Given the description of an element on the screen output the (x, y) to click on. 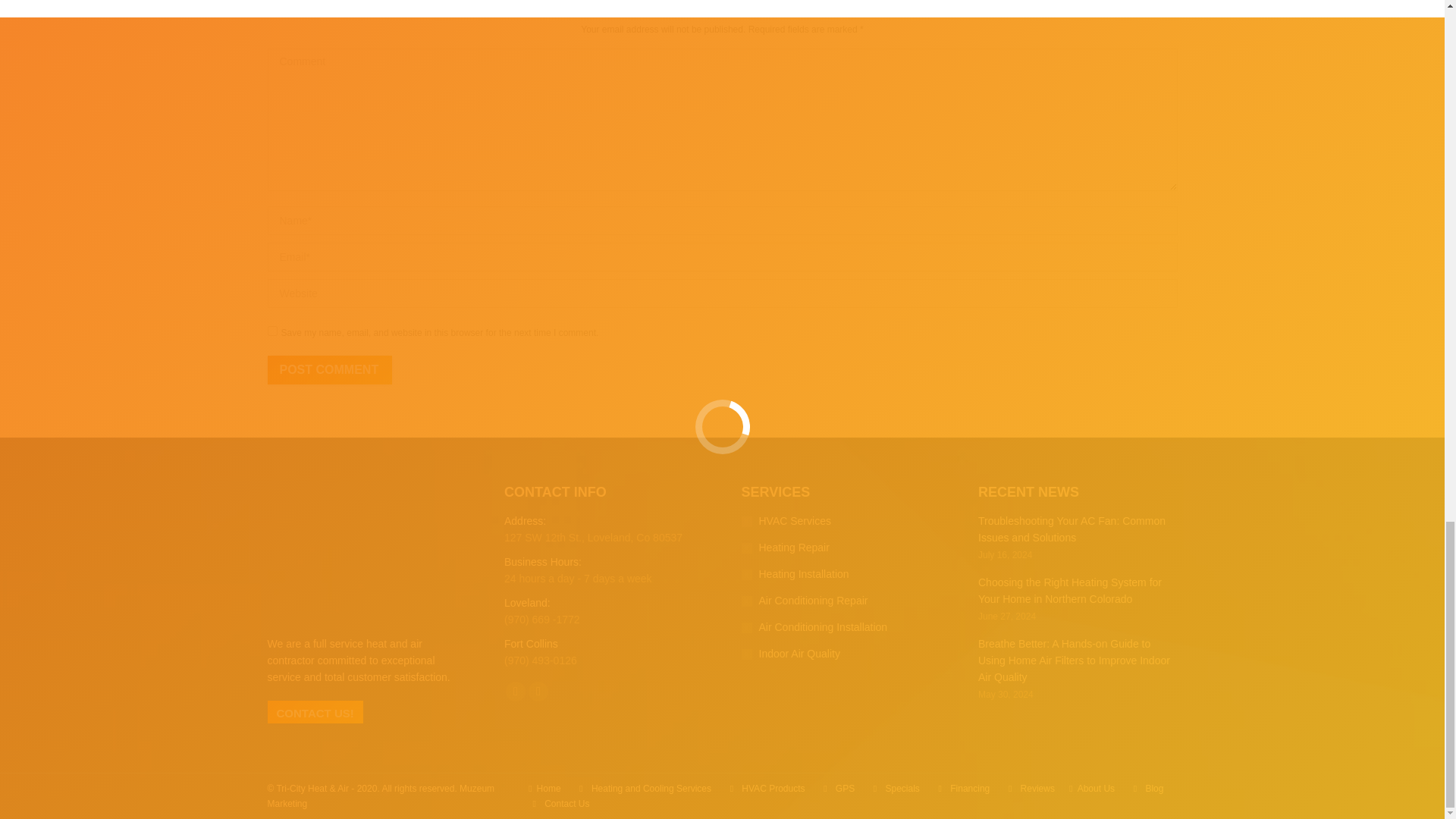
yes (271, 330)
Twitter page opens in new window (538, 691)
Facebook page opens in new window (515, 691)
